Given the description of an element on the screen output the (x, y) to click on. 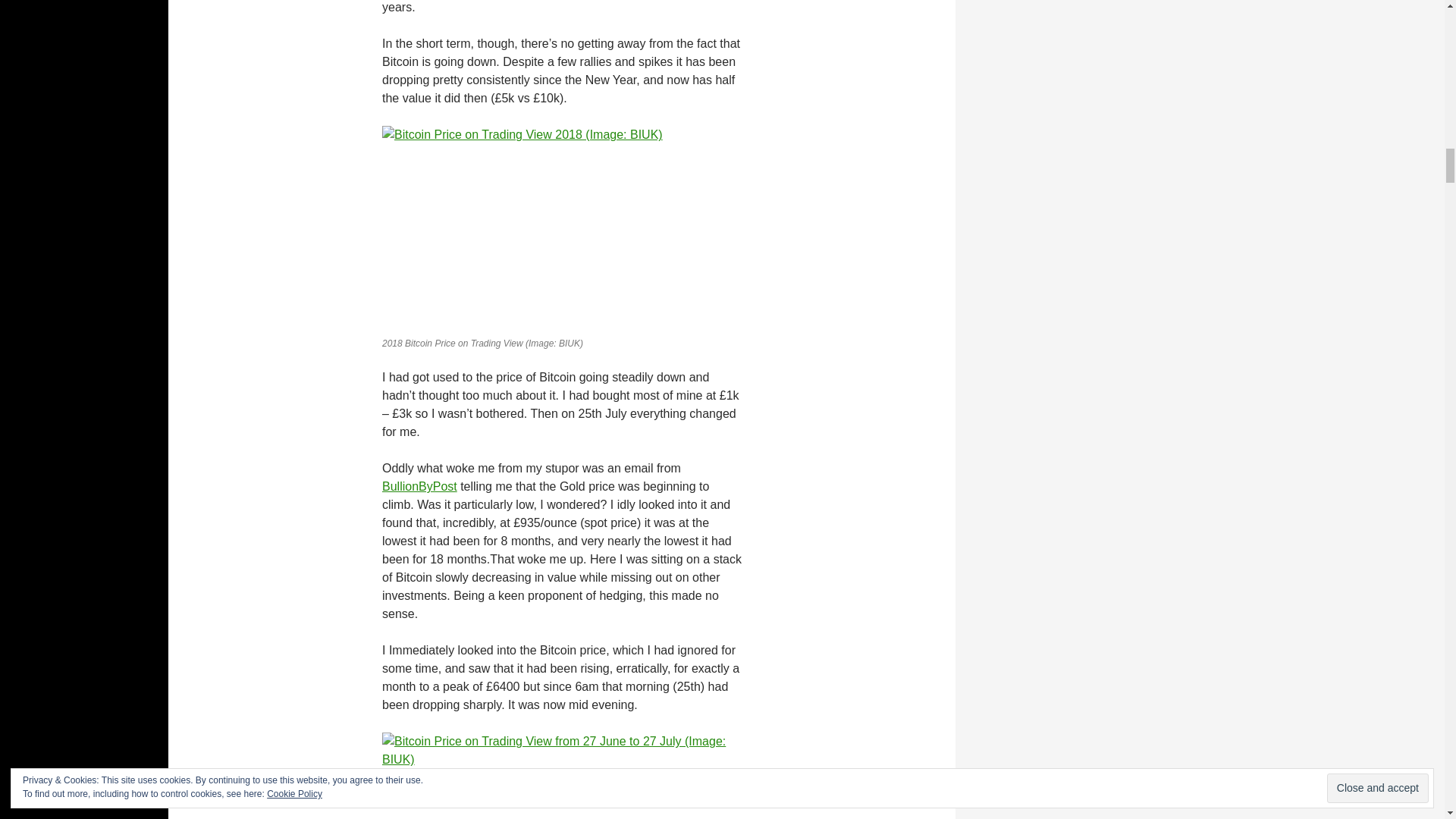
BullionByPost (419, 486)
